Given the description of an element on the screen output the (x, y) to click on. 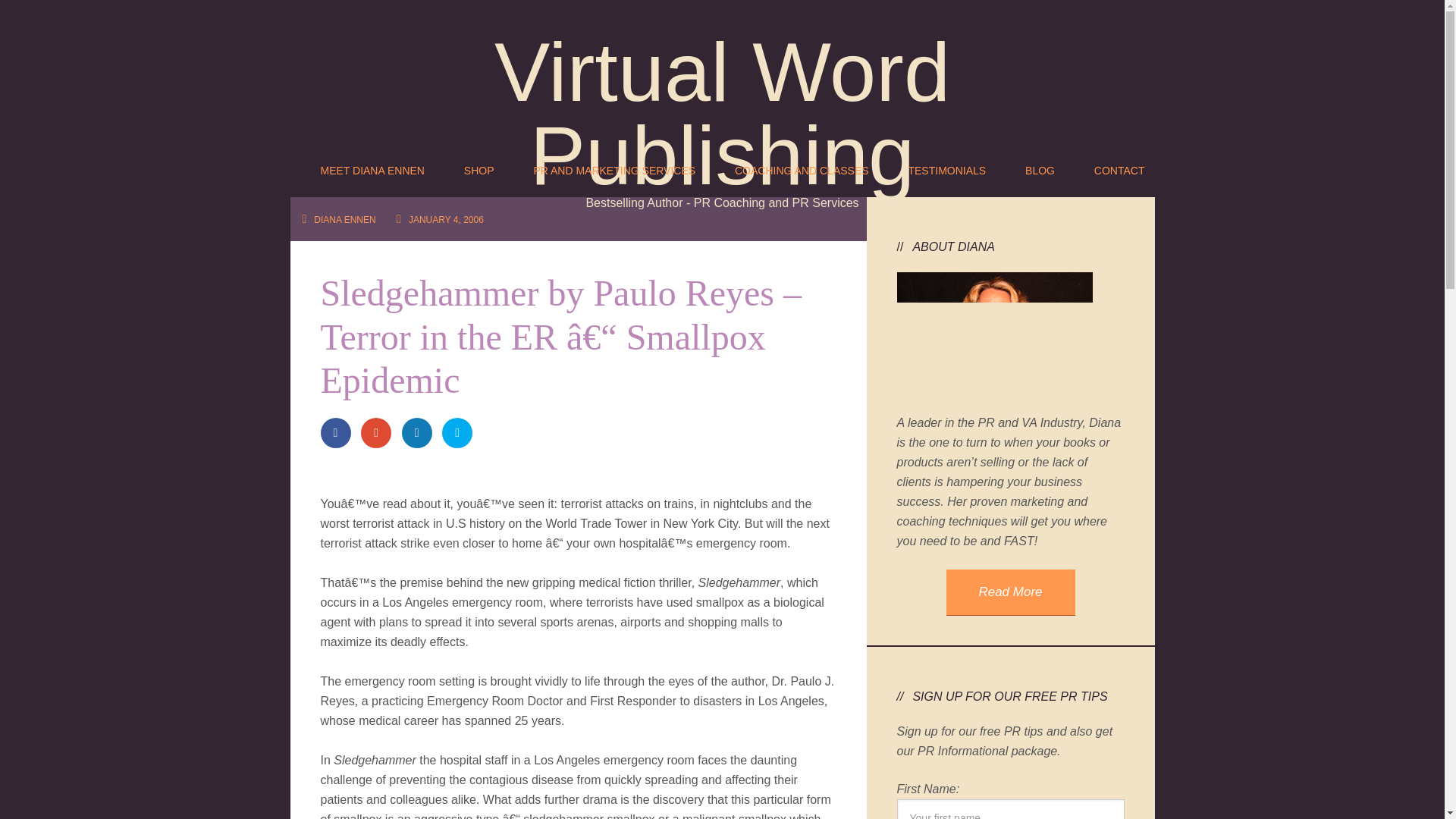
PR AND MARKETING SERVICES (614, 166)
Virtual Word Publishing (722, 113)
SHOP (478, 166)
COACHING AND CLASSES (801, 166)
Read More (1010, 592)
MEET DIANA ENNEN (371, 166)
TESTIMONIALS (946, 166)
BLOG (1040, 166)
DIANA ENNEN (344, 219)
CONTACT (1119, 166)
